Given the description of an element on the screen output the (x, y) to click on. 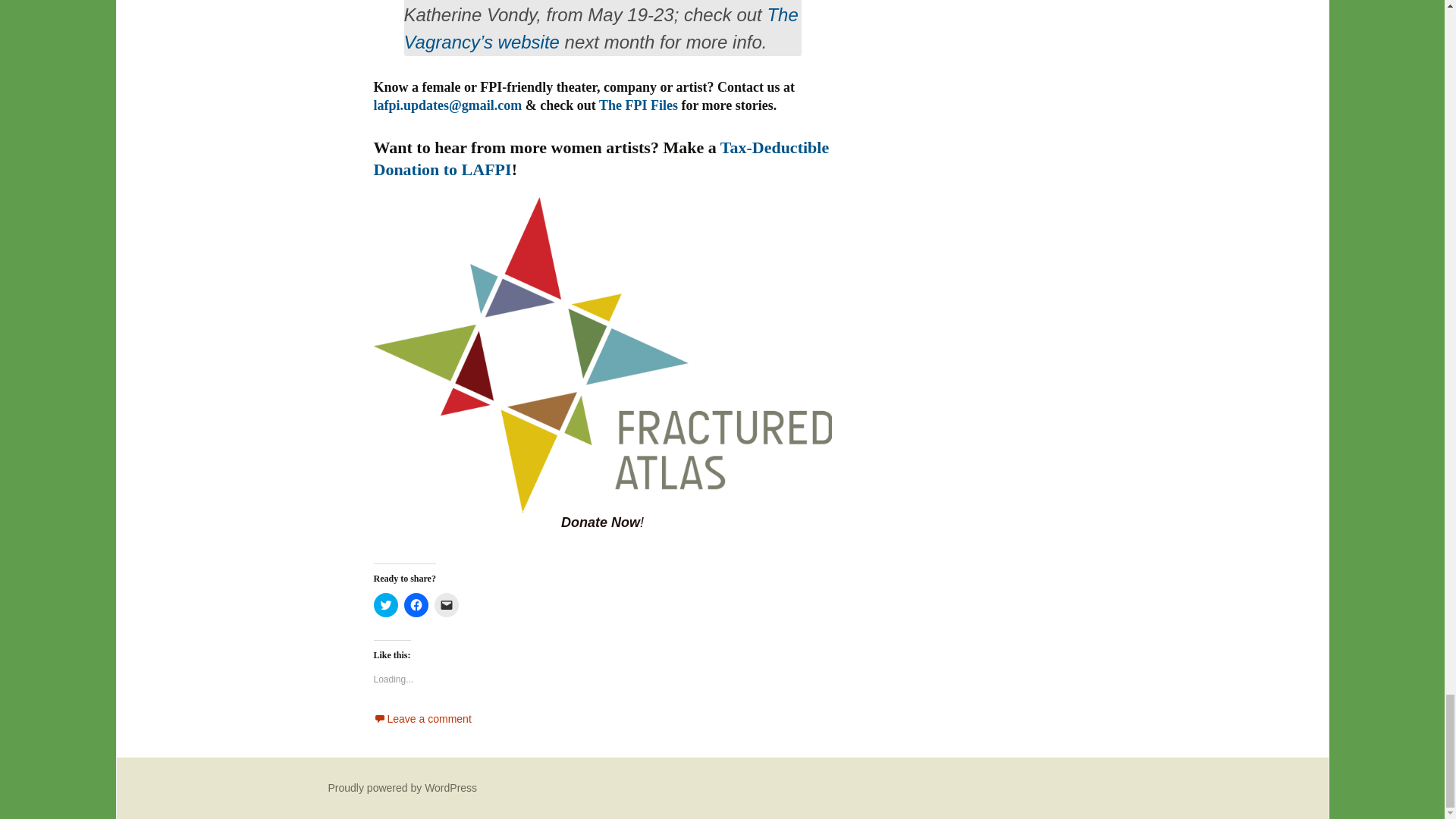
Click to share on Twitter (384, 604)
Click to share on Facebook (415, 604)
Click to email a link to a friend (445, 604)
